Given the description of an element on the screen output the (x, y) to click on. 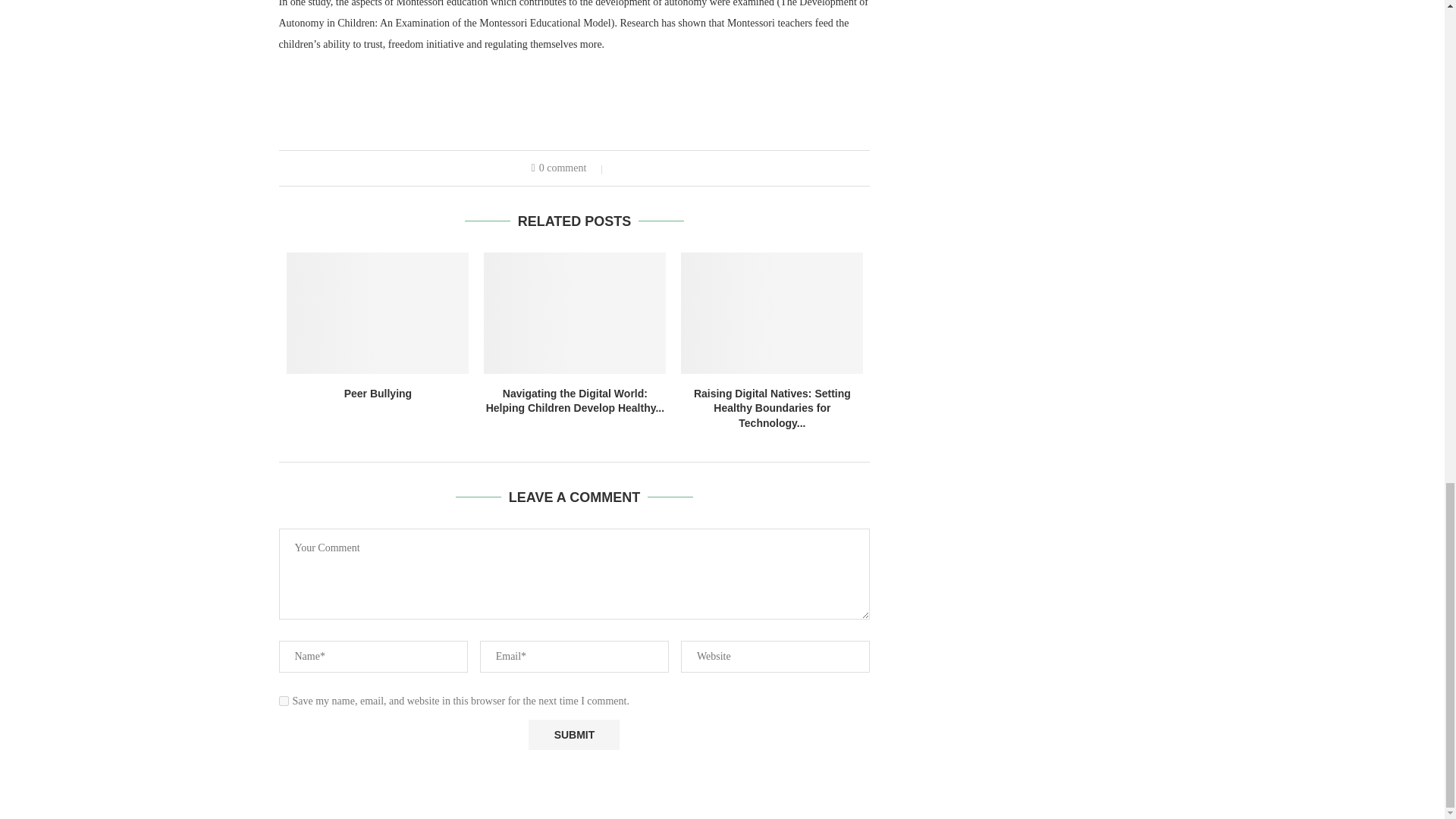
Submit (574, 734)
yes (283, 700)
